Given the description of an element on the screen output the (x, y) to click on. 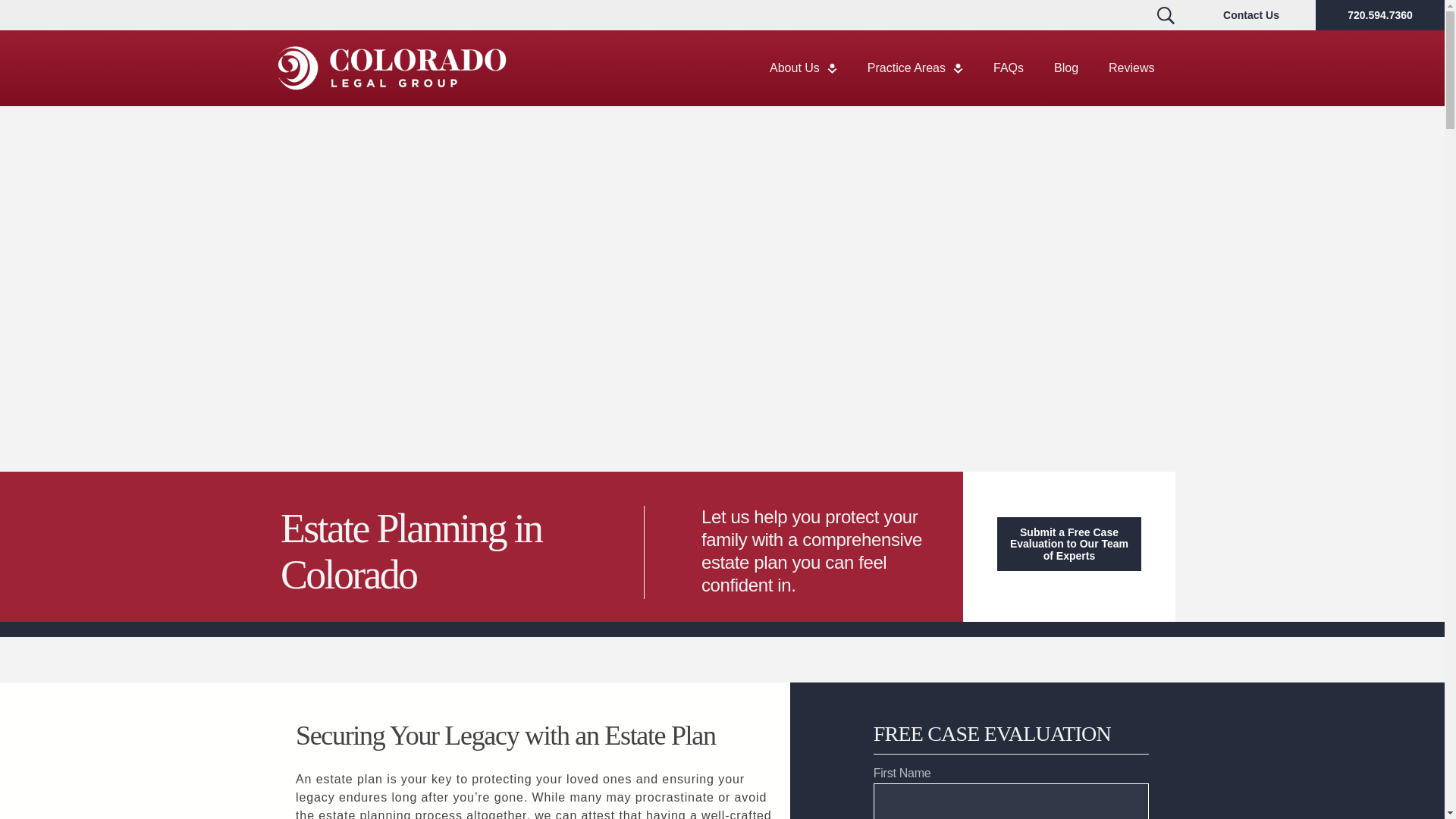
Search (1165, 14)
About Us (802, 68)
Practice Areas (914, 68)
Contact Us (1251, 15)
